Given the description of an element on the screen output the (x, y) to click on. 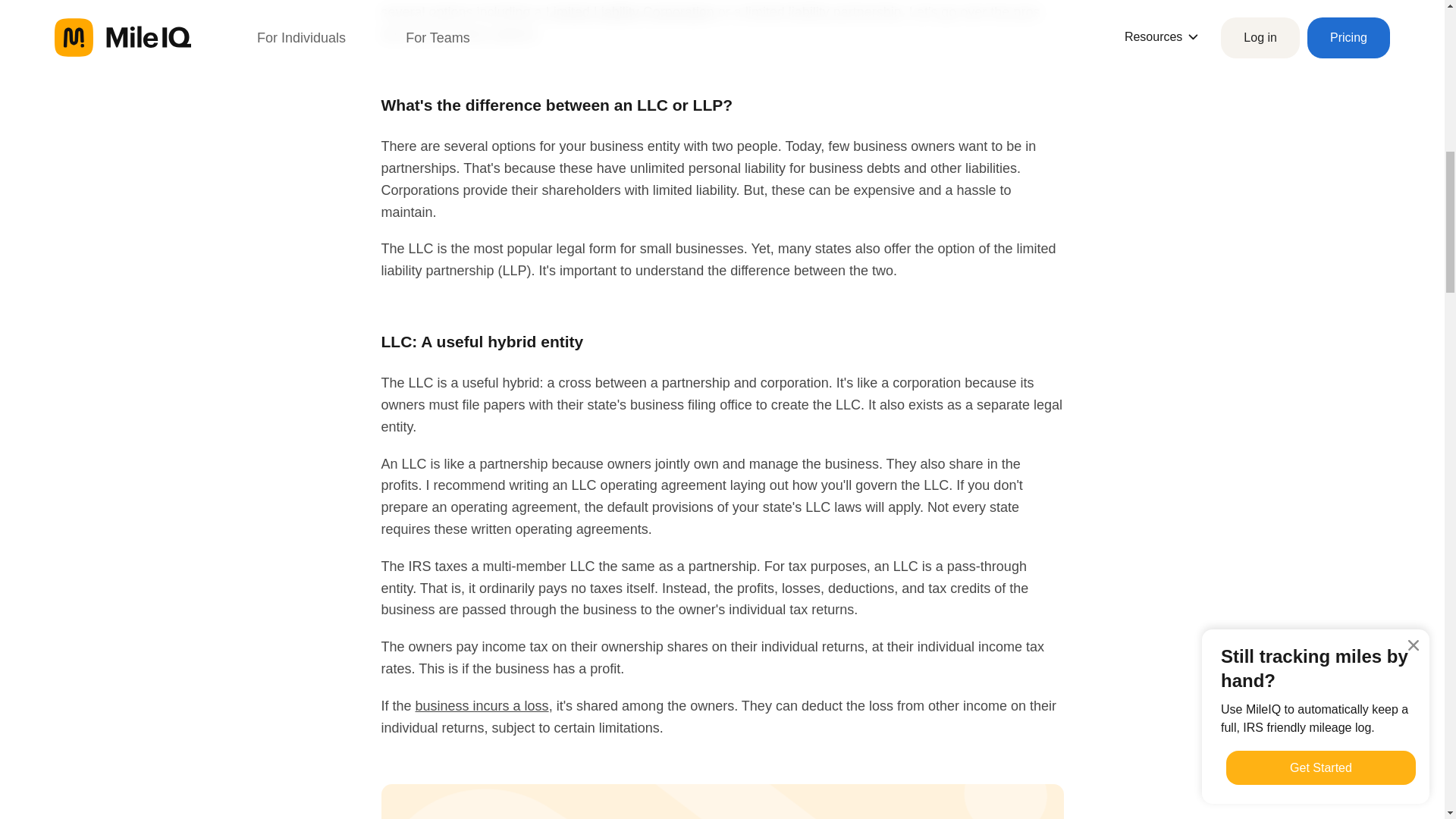
Limited Liability Corporation (630, 11)
business incurs a loss (481, 705)
